Given the description of an element on the screen output the (x, y) to click on. 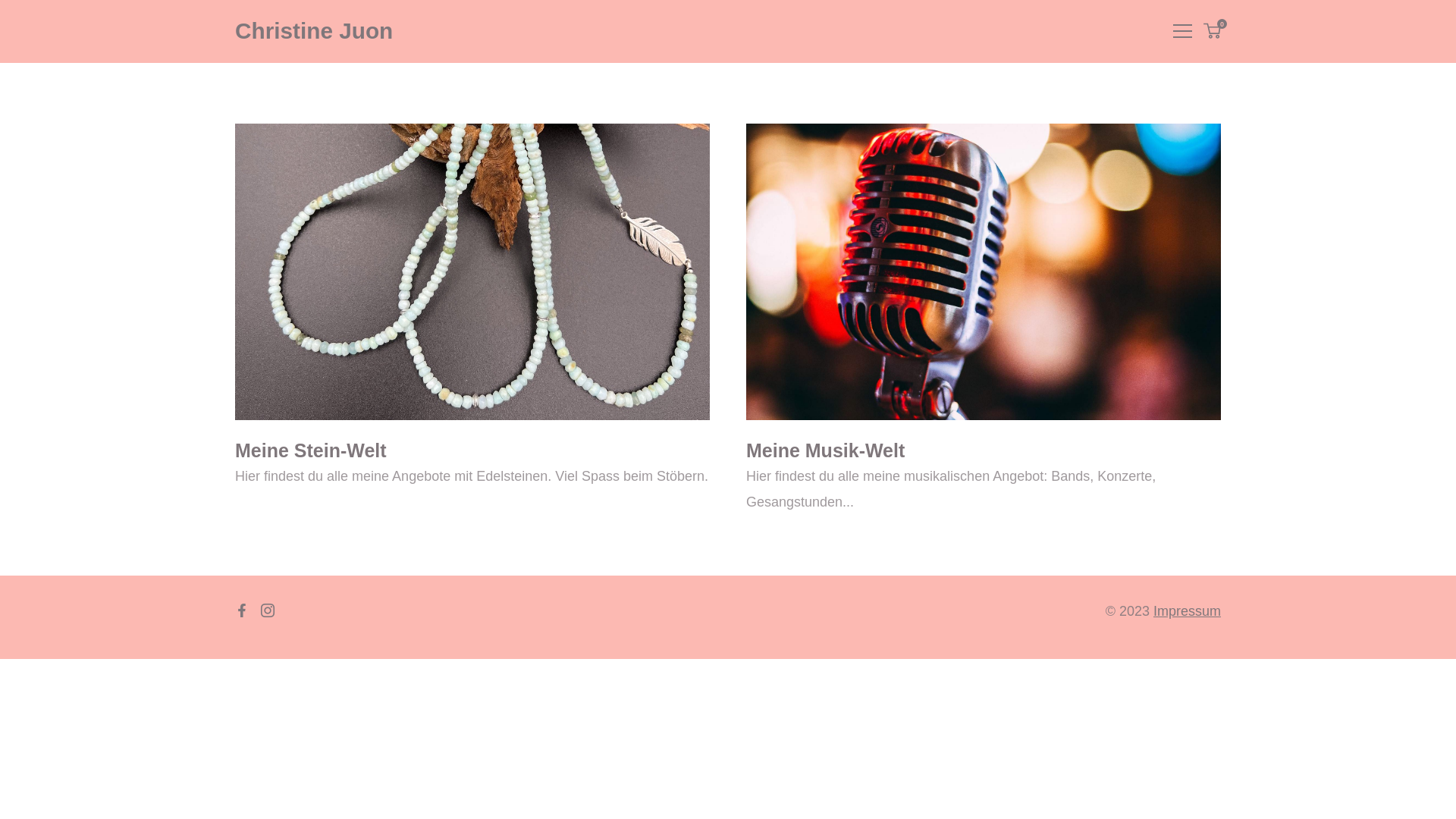
Impressum Element type: text (1186, 610)
Christine Juon Element type: text (313, 30)
Meine Musik-Welt Element type: text (825, 450)
WARENKORB:
0 Element type: text (1211, 31)
Meine Stein-Welt Element type: text (310, 450)
